Given the description of an element on the screen output the (x, y) to click on. 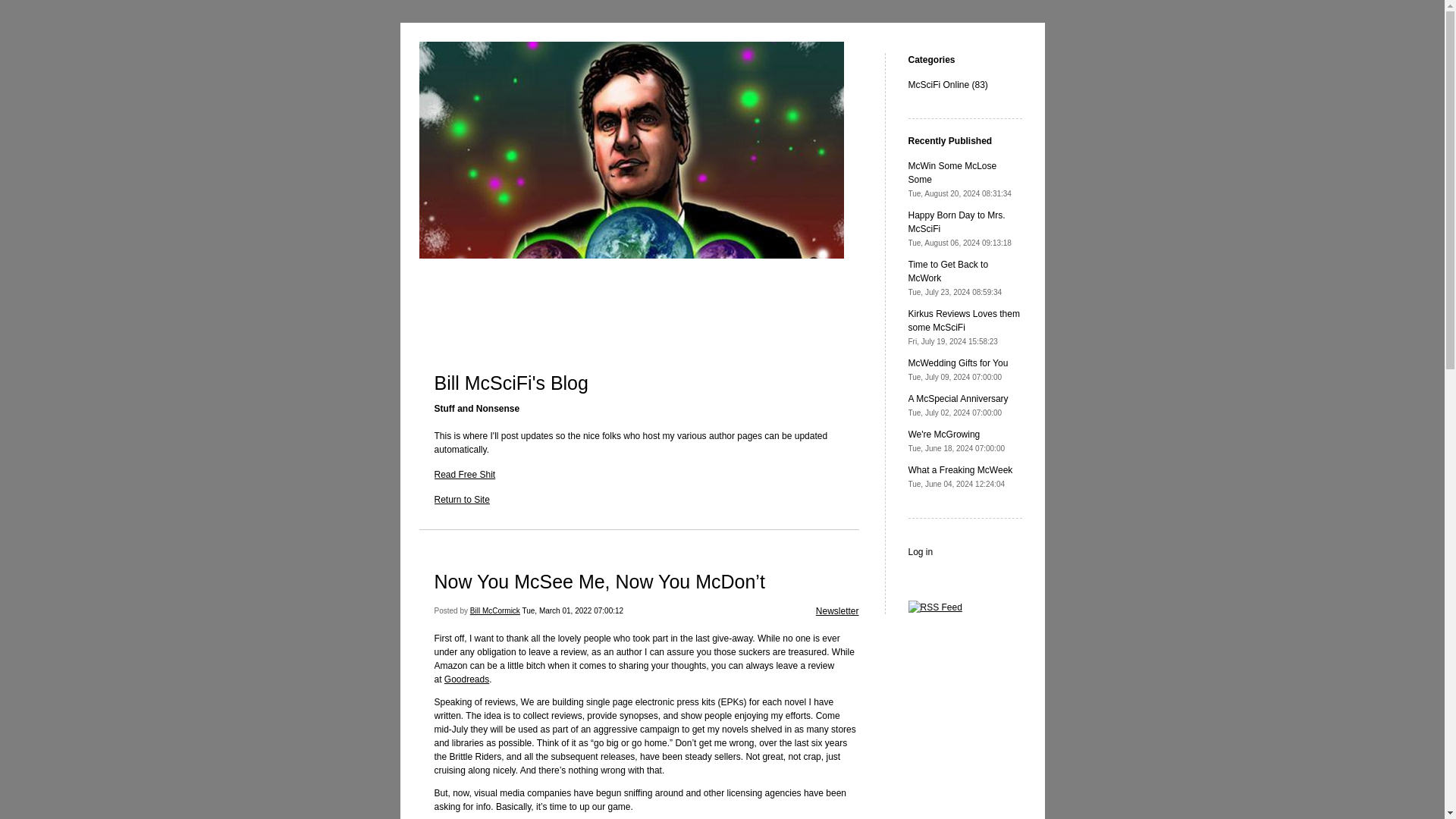
Log in (959, 228)
Goodreads (958, 369)
Newsletter (920, 552)
Newsletter (959, 179)
Bill McCormick (466, 679)
